Given the description of an element on the screen output the (x, y) to click on. 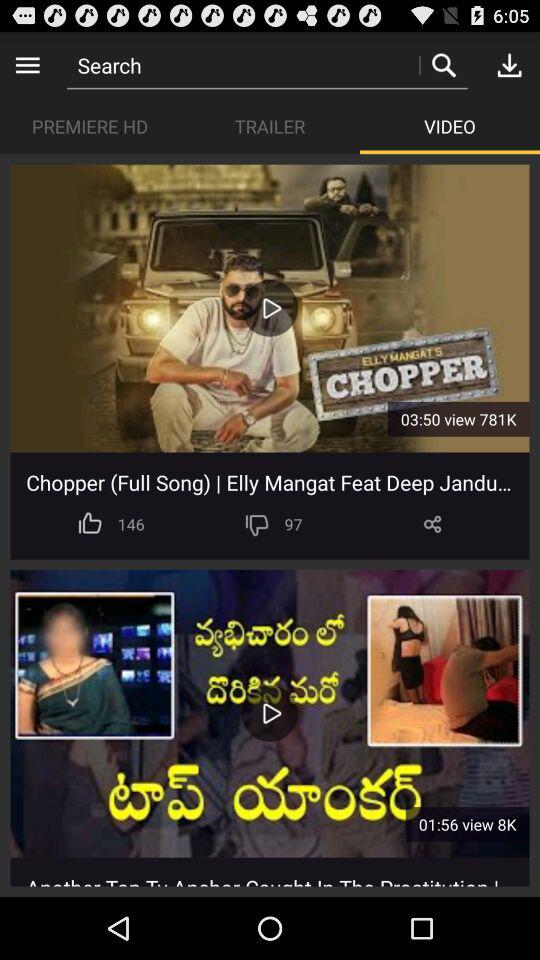
hit thumbs down (256, 523)
